Given the description of an element on the screen output the (x, y) to click on. 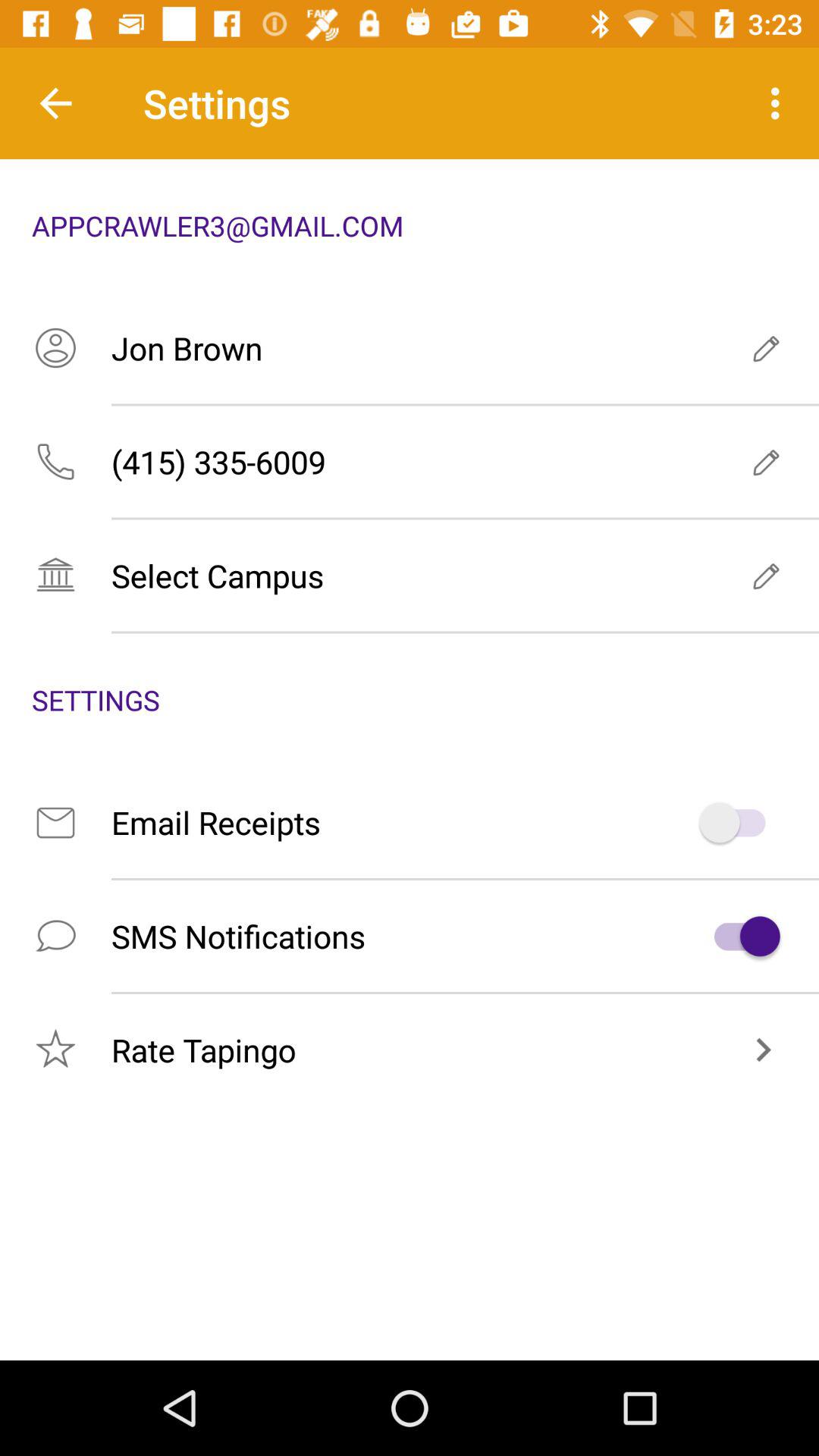
tap the icon below email receipts item (409, 935)
